Given the description of an element on the screen output the (x, y) to click on. 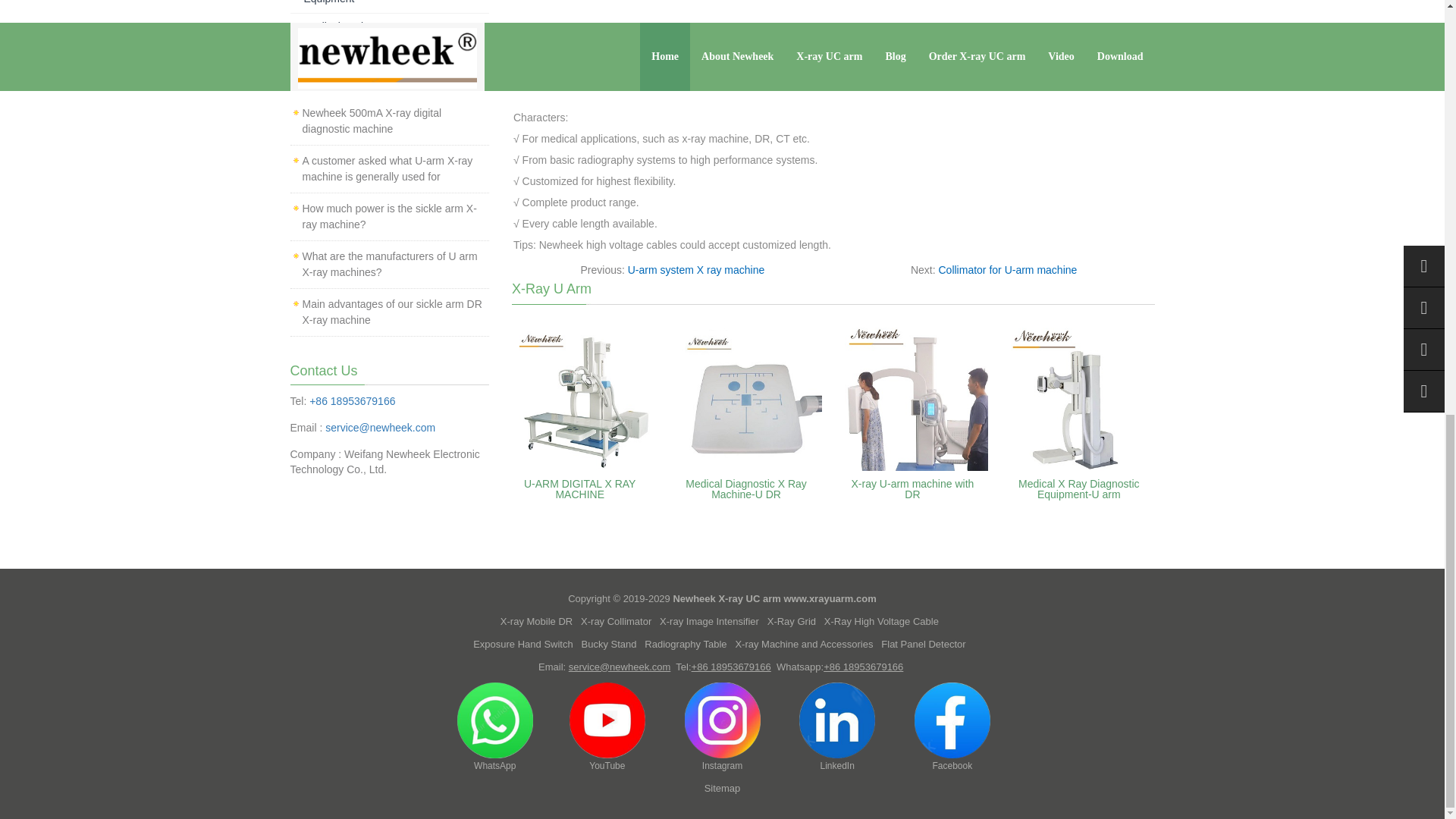
Main advantages of our sickle arm DR X-ray machine (391, 311)
U-ARM DIGITAL X RAY MACHINE (580, 488)
How much power is the sickle arm X-ray machine? (388, 216)
What are the manufacturers of U arm X-ray machines? (389, 264)
Collimator for U-arm machine (1008, 269)
Newheek 500mA X-ray digital diagnostic machine (371, 121)
U-arm system X ray machine (695, 269)
